Given the description of an element on the screen output the (x, y) to click on. 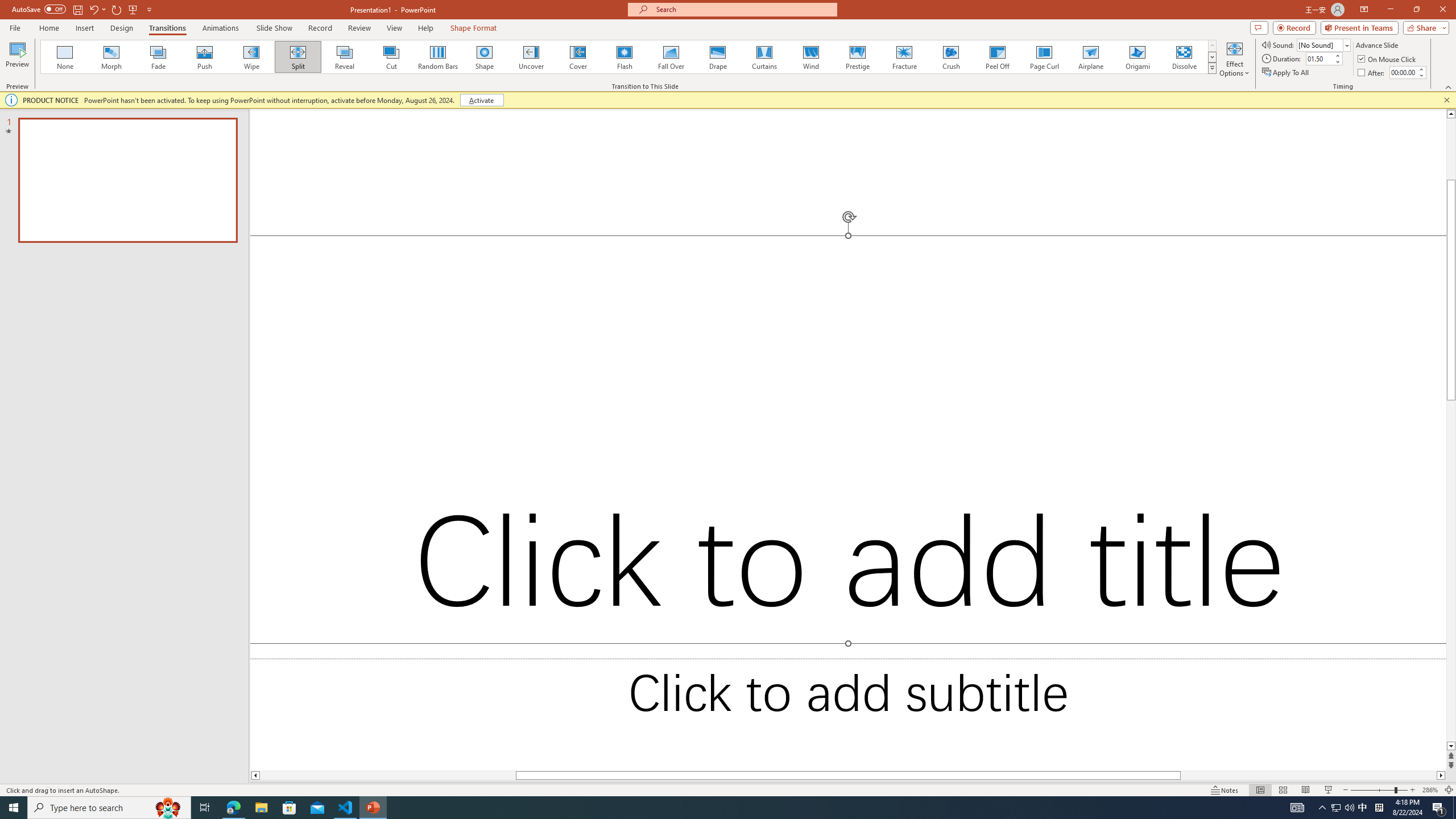
Close this message (1446, 99)
Peel Off (997, 56)
Origami (1136, 56)
Prestige (857, 56)
Shape (484, 56)
Push (205, 56)
Transition Effects (1212, 67)
Random Bars (437, 56)
